Given the description of an element on the screen output the (x, y) to click on. 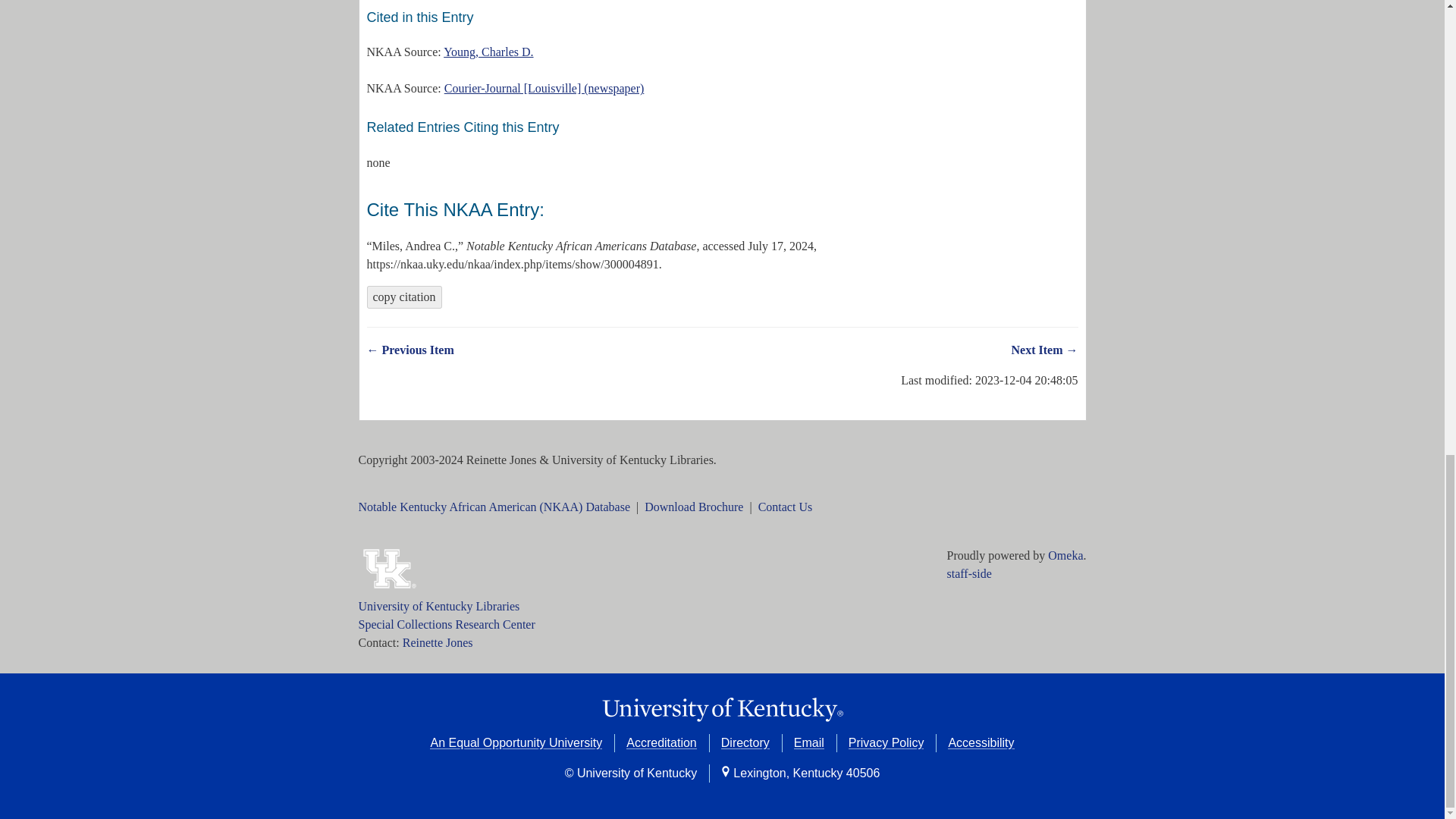
Young, Charles D. (488, 51)
Omeka (1065, 554)
copy citation (404, 296)
Reinette Jones (438, 642)
Contact Us (785, 506)
An Equal Opportunity University (515, 742)
Special Collections Research Center (446, 624)
staff-side (969, 573)
Download Brochure (693, 506)
University of Kentucky Libraries (438, 605)
